Given the description of an element on the screen output the (x, y) to click on. 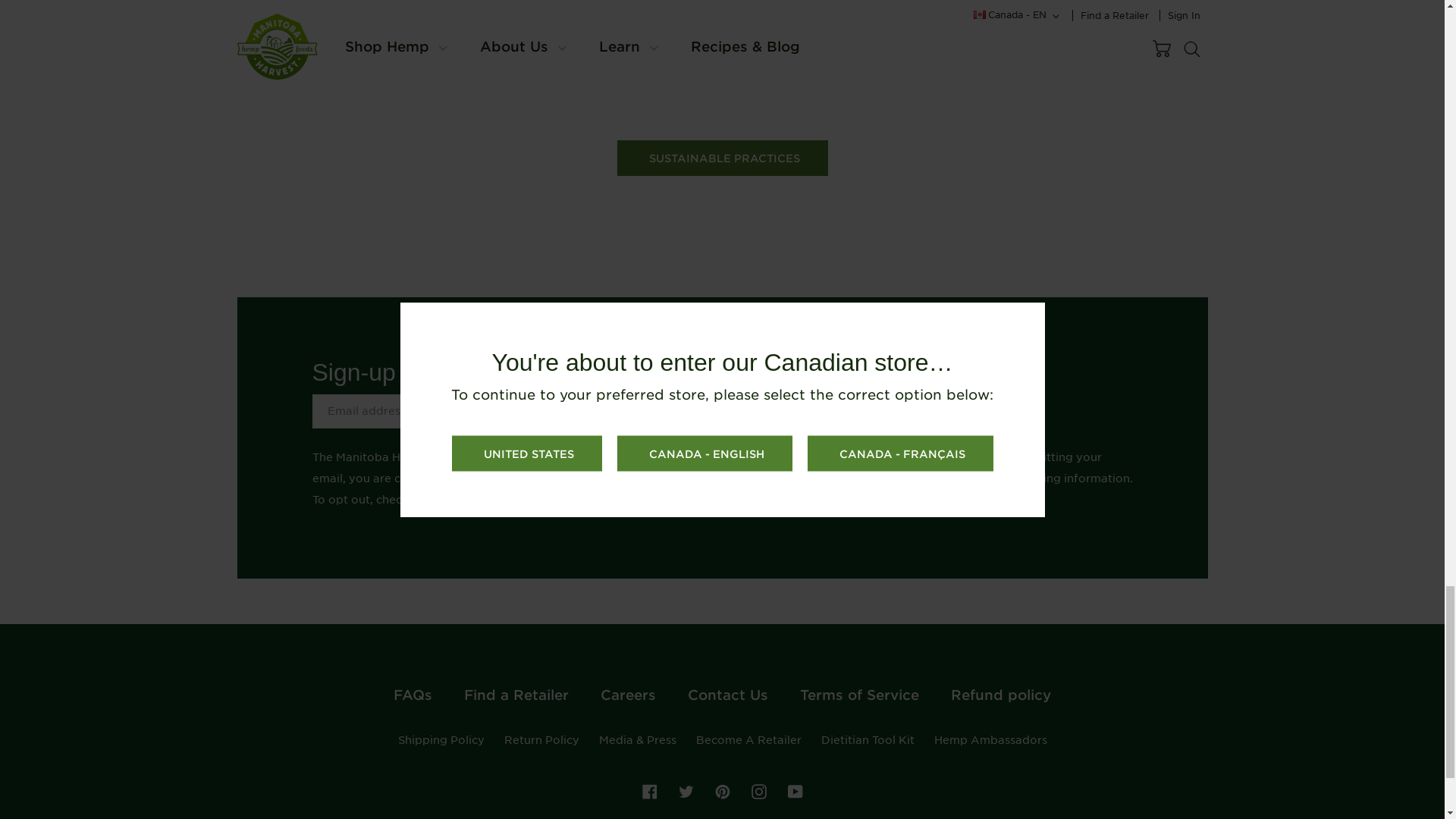
Facebook (649, 791)
Terms of Service (555, 478)
Youtube (794, 791)
Instagram (758, 791)
Manitoba Harvest Hemp Foods on Twitter (685, 790)
Manitoba Harvest Hemp Foods on Facebook (649, 790)
Manitoba Harvest Hemp Foods on Pinterest (722, 790)
Pinterest (721, 791)
Manitoba Harvest Hemp Foods on YouTube (794, 790)
Manitoba Harvest Hemp Foods on Instagram (758, 790)
